Given the description of an element on the screen output the (x, y) to click on. 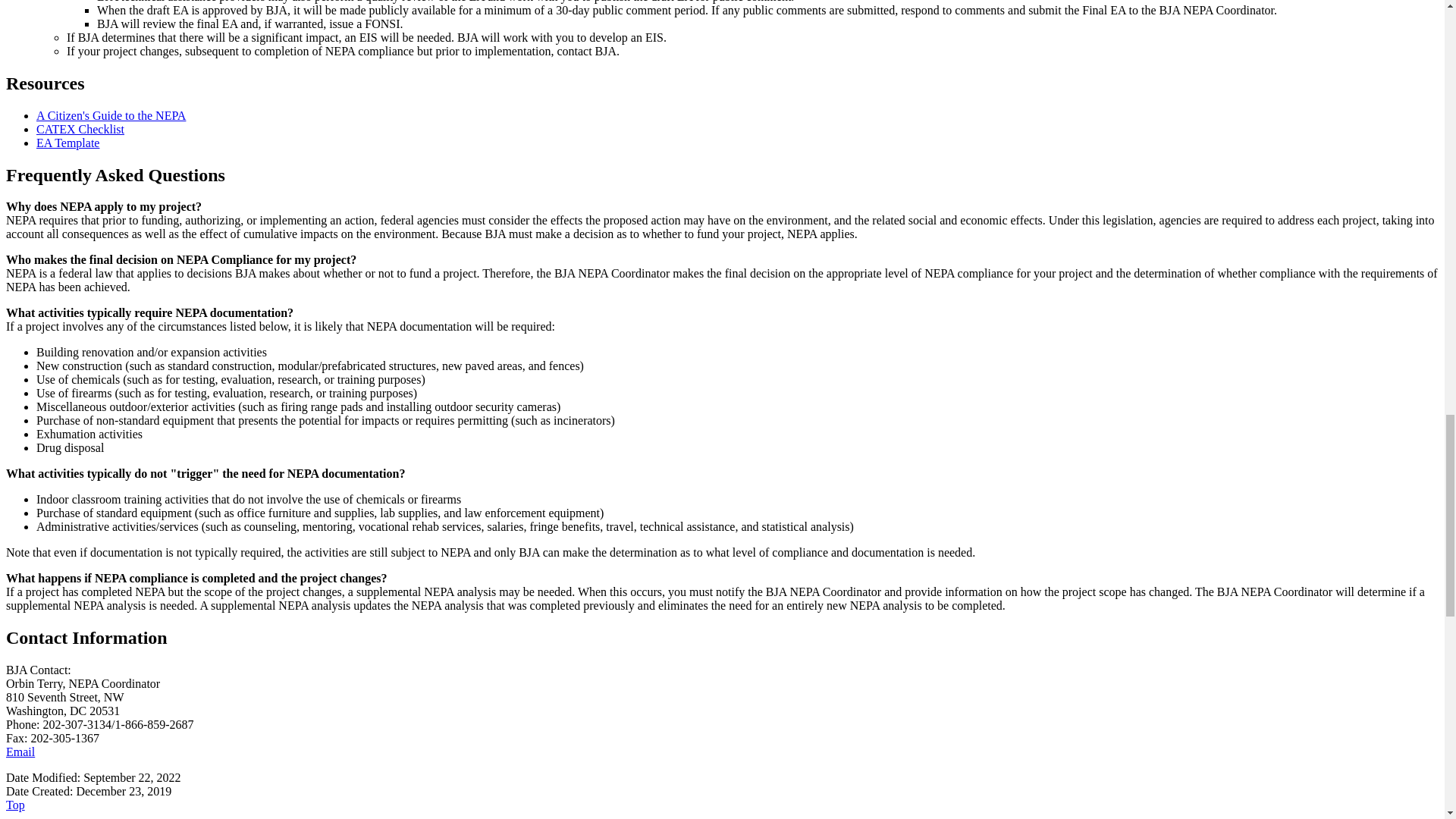
The Citizen's Guide to the NEPA (111, 115)
CATEX Checklist (79, 128)
Email Orbin Terry (19, 751)
EA Template (67, 142)
A Citizen's Guide to the NEPA (111, 115)
